Given the description of an element on the screen output the (x, y) to click on. 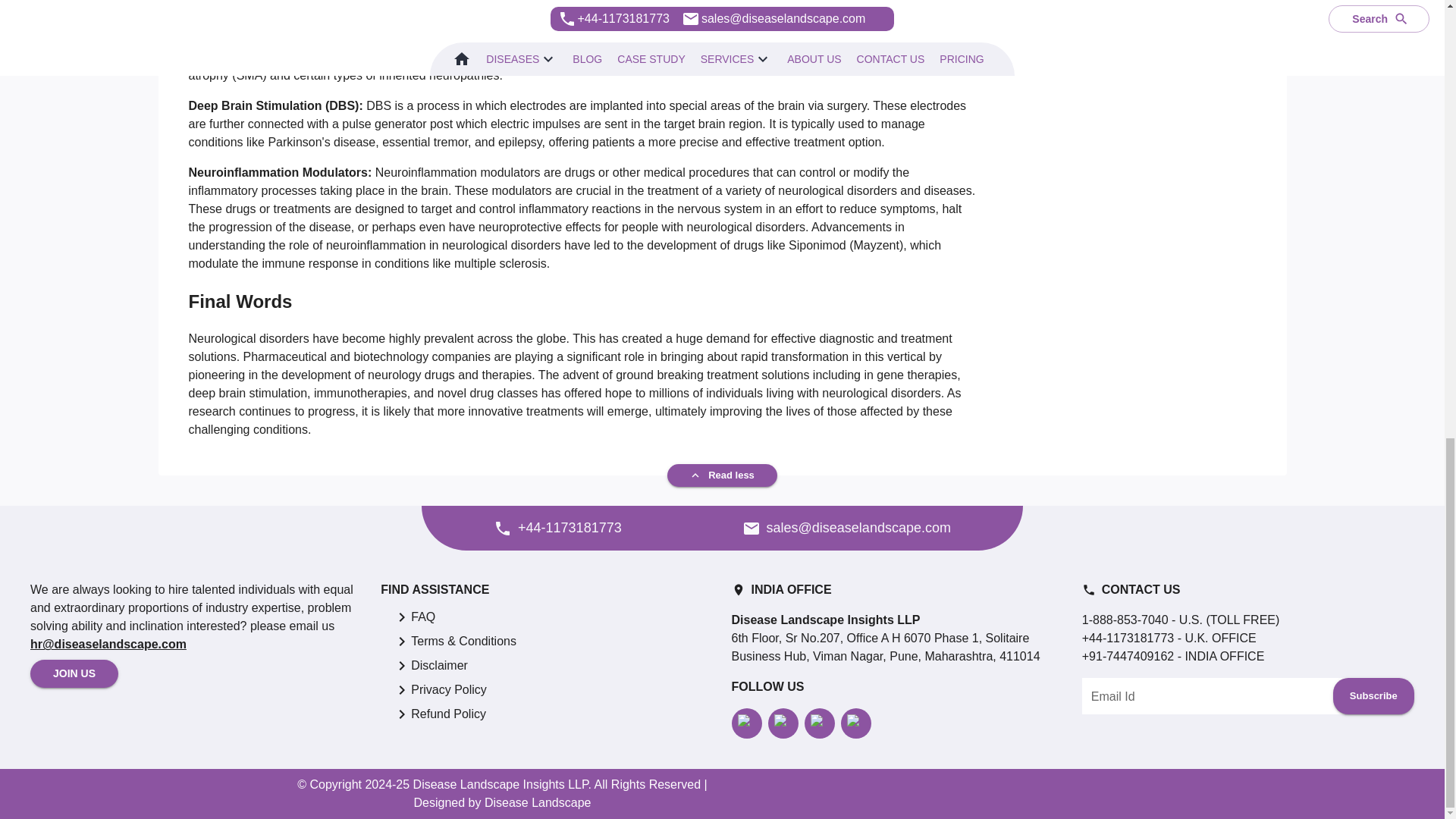
Talk to sale (748, 532)
FAQ (422, 617)
Privacy Policy (448, 689)
JOIN US (73, 673)
Read less (721, 475)
Subscribe (1373, 696)
Refund Policy (448, 714)
Disclaimer (438, 665)
